Given the description of an element on the screen output the (x, y) to click on. 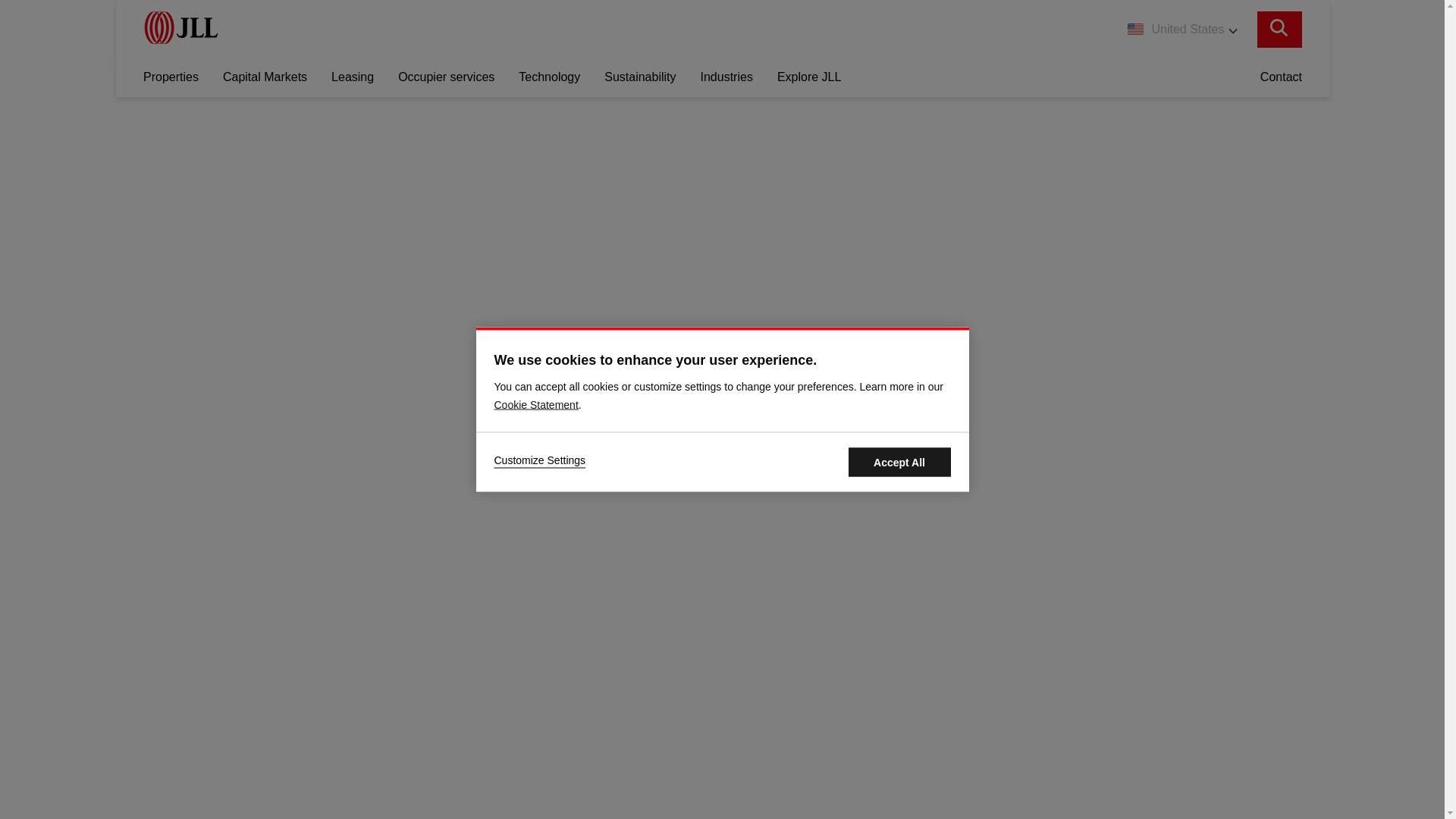
United States (1181, 29)
